Given the description of an element on the screen output the (x, y) to click on. 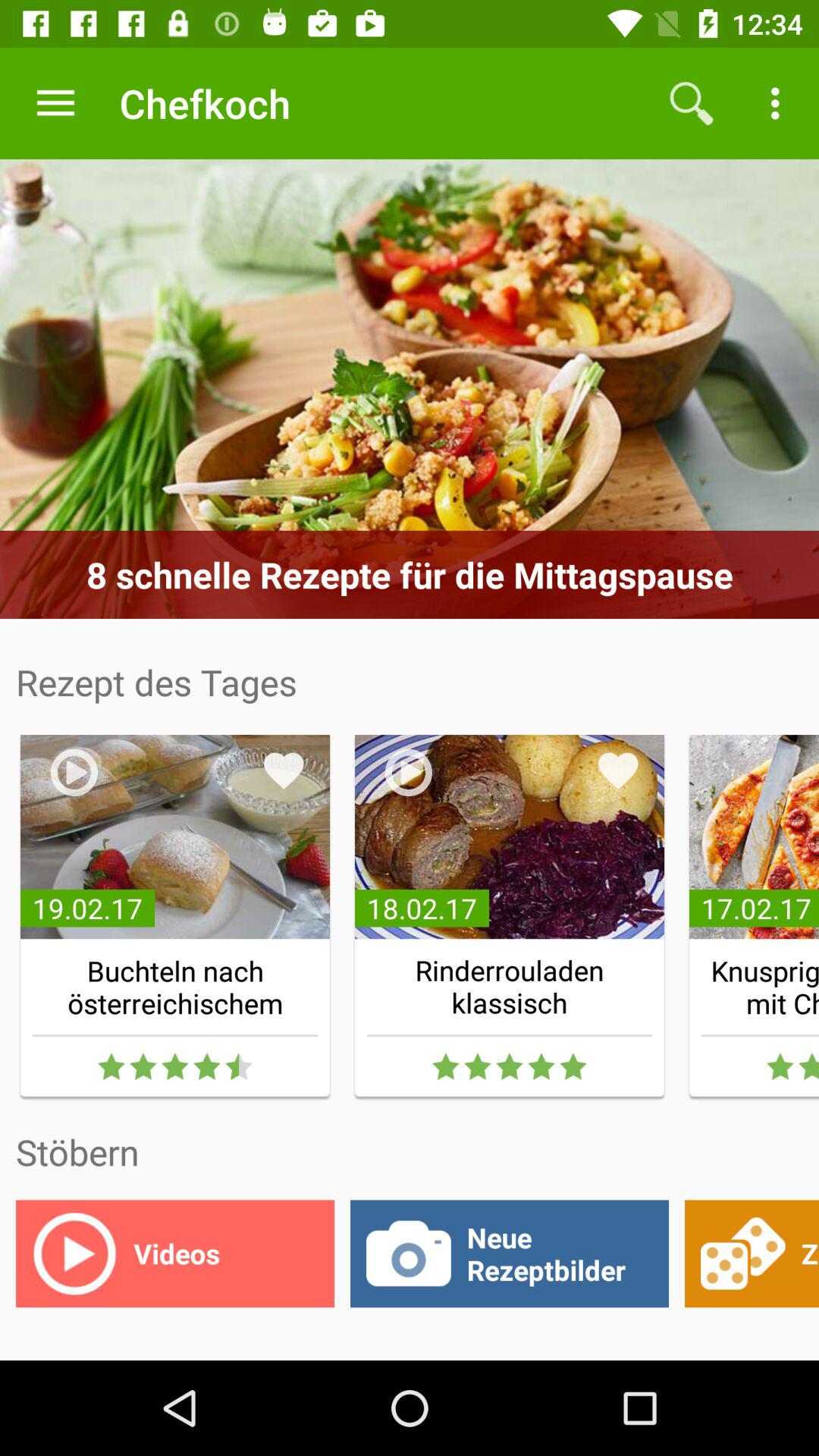
choose app to the left of chefkoch item (55, 103)
